Given the description of an element on the screen output the (x, y) to click on. 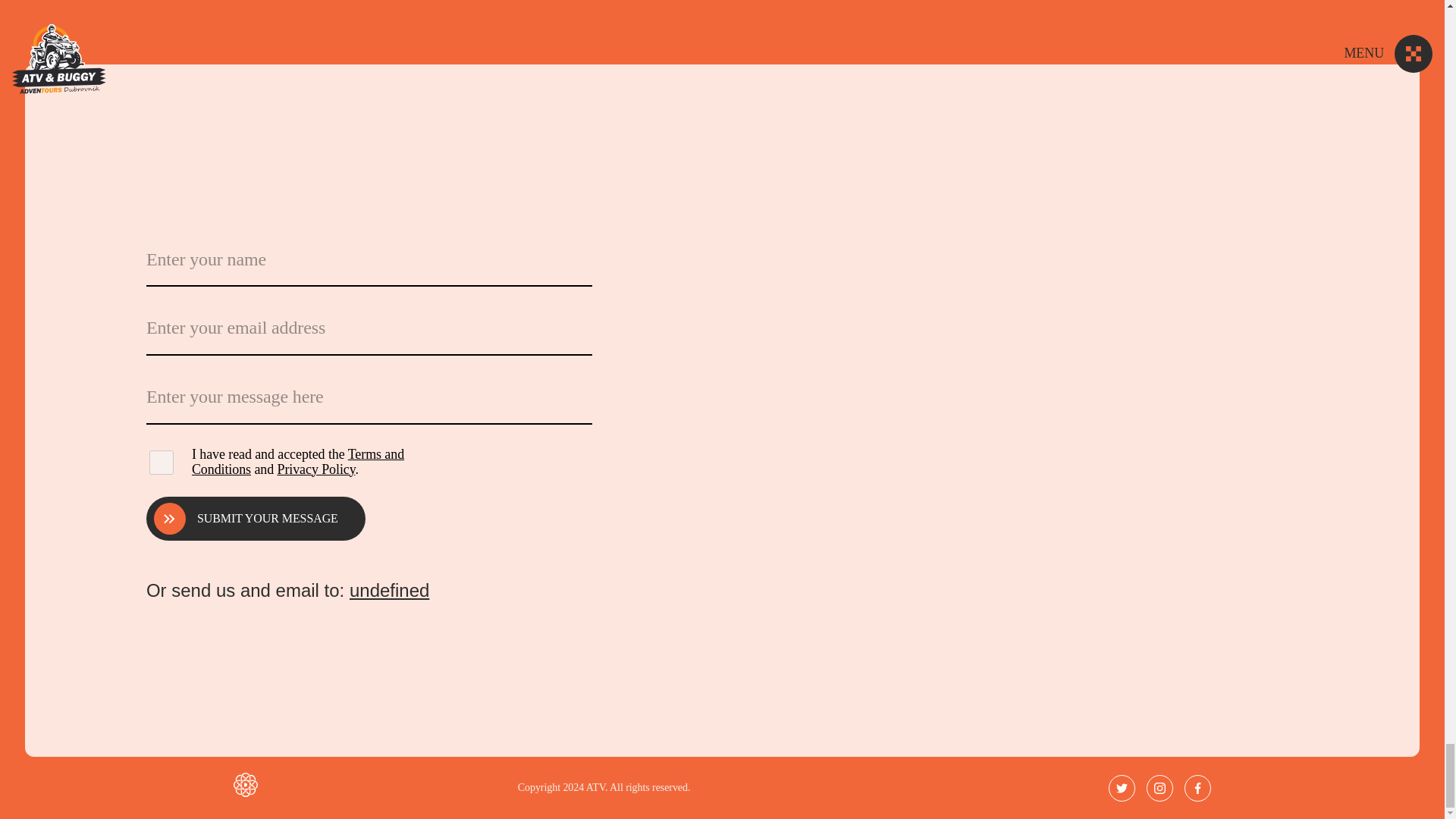
SUBMIT YOUR MESSAGE (256, 518)
false (161, 462)
Privacy Policy (316, 468)
Terms and Conditions (298, 461)
undefined (389, 589)
